Given the description of an element on the screen output the (x, y) to click on. 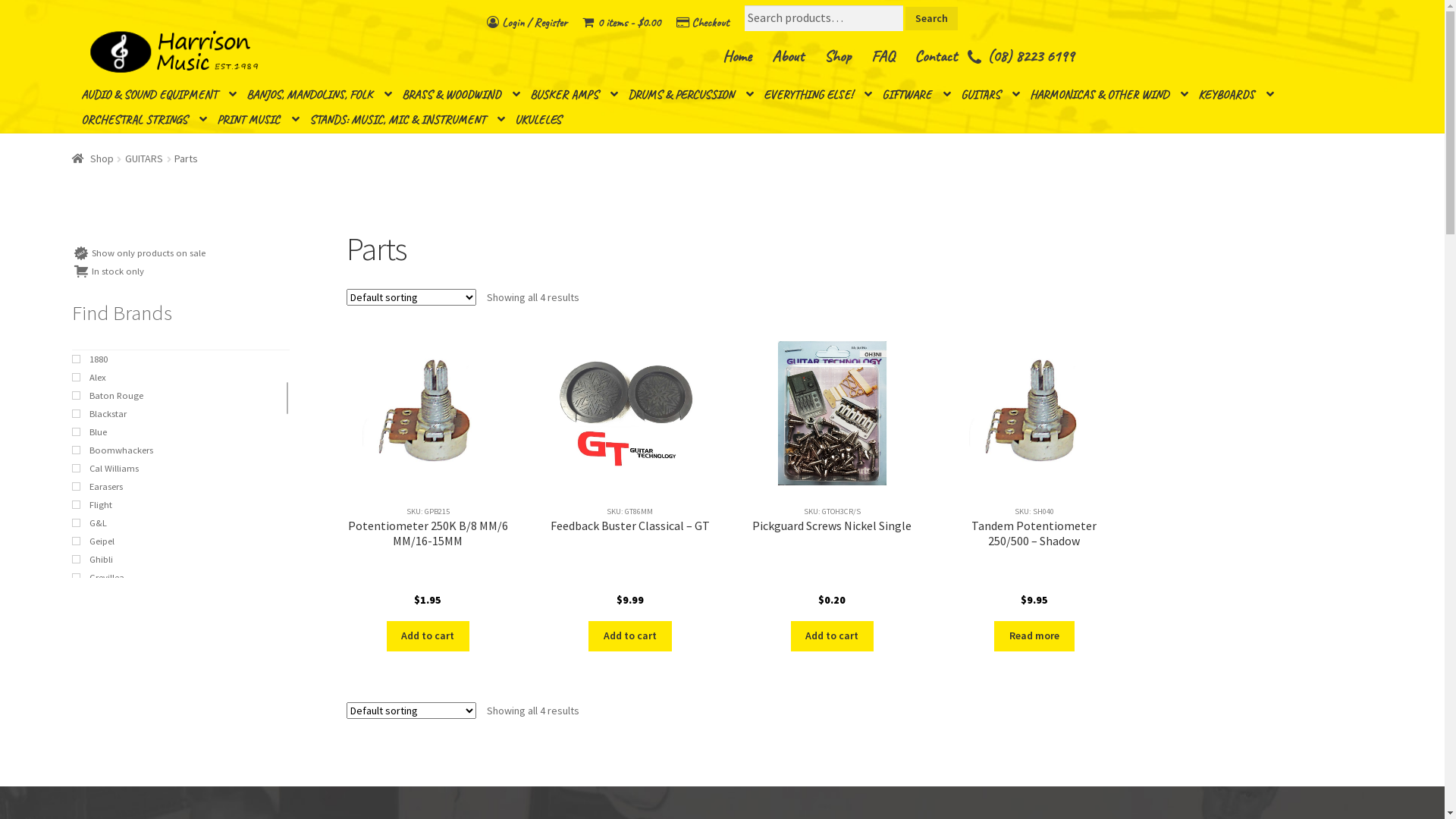
HARMONICAS & OTHER WIND Element type: text (1109, 94)
Shop Element type: text (837, 56)
GIFTWARE Element type: text (916, 94)
0 items - $0.00 Element type: text (621, 22)
EVERYTHING ELSE! Element type: text (817, 94)
UKULELES Element type: text (544, 120)
FAQ Element type: text (882, 56)
GUITARS Element type: text (990, 94)
BANJOS, MANDOLINS, FOLK Element type: text (318, 94)
Add to cart Element type: text (832, 636)
Checkout Element type: text (702, 22)
AUDIO & SOUND EQUIPMENT Element type: text (158, 94)
GUITARS Element type: text (144, 158)
SKU: GTOH3CR/S
Pickguard Screws Nickel Single
$0.20 Element type: text (831, 472)
ORCHESTRAL STRINGS Element type: text (143, 119)
PRINT MUSIC Element type: text (258, 119)
Login / Register Element type: text (526, 22)
Search Element type: text (931, 18)
Contact Element type: text (935, 56)
(08) 8223 6199 Element type: text (1030, 56)
About Element type: text (787, 56)
Read more Element type: text (1034, 636)
BRASS & WOODWIND Element type: text (460, 94)
Add to cart Element type: text (629, 636)
Add to cart Element type: text (428, 636)
BUSKER AMPS Element type: text (573, 94)
KEYBOARDS Element type: text (1235, 94)
Shop Element type: text (92, 158)
DRUMS & PERCUSSION Element type: text (690, 94)
Home Element type: text (736, 56)
SKU: GPB215
Potentiometer 250K B/8 MM/6 MM/16-15MM
$1.95 Element type: text (427, 472)
STANDS: MUSIC, MIC & INSTRUMENT Element type: text (406, 119)
